Given the description of an element on the screen output the (x, y) to click on. 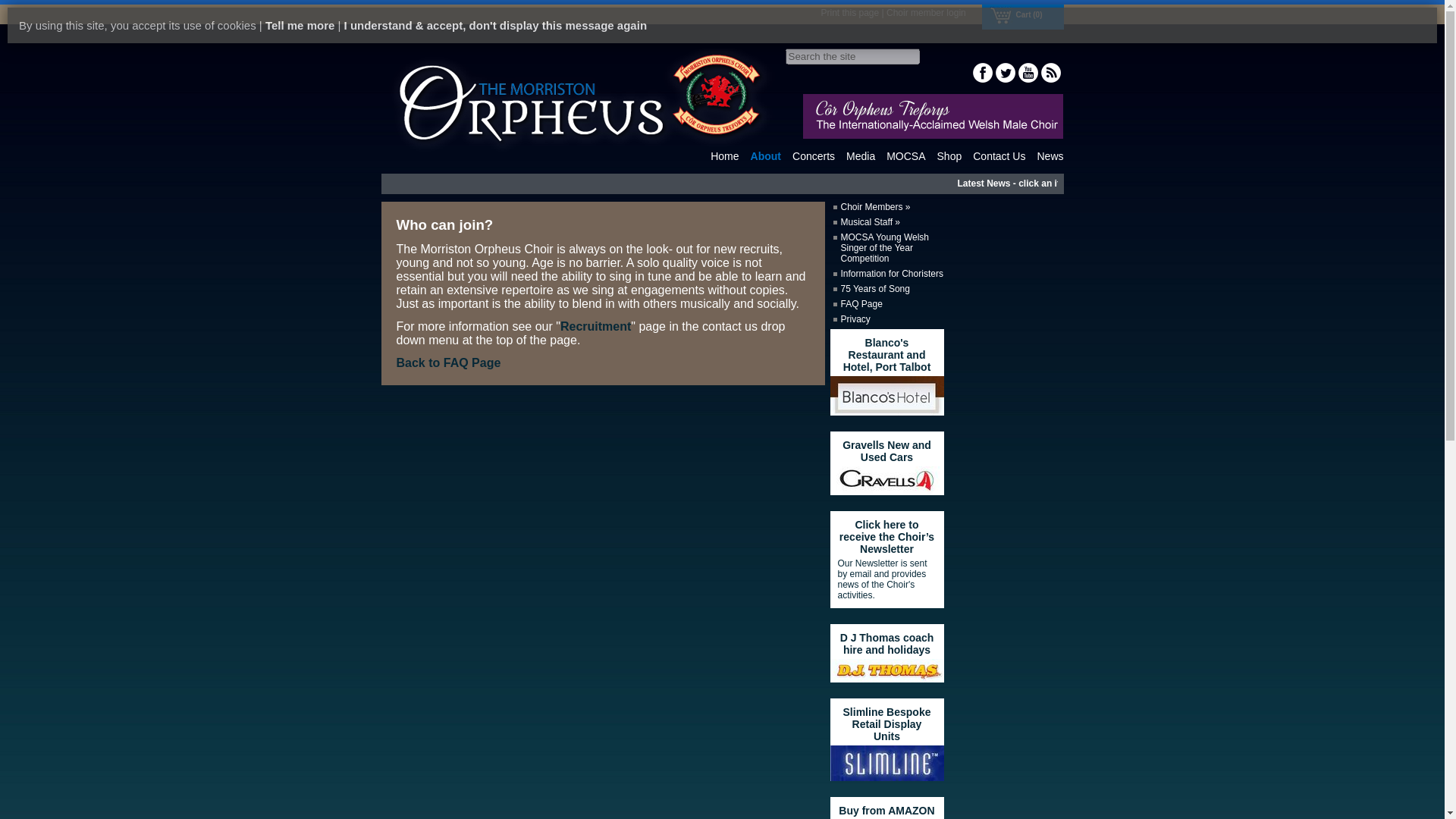
Home (724, 155)
Contact Us (998, 155)
Events and Engagements Details (813, 155)
About (765, 155)
Home (724, 155)
Concerts (813, 155)
go (11, 7)
Media (860, 155)
Shop (949, 155)
Search the site (853, 56)
Search the site (853, 56)
Media (860, 155)
Choir member login (926, 12)
Print this page (850, 12)
MOCSA (905, 155)
